Given the description of an element on the screen output the (x, y) to click on. 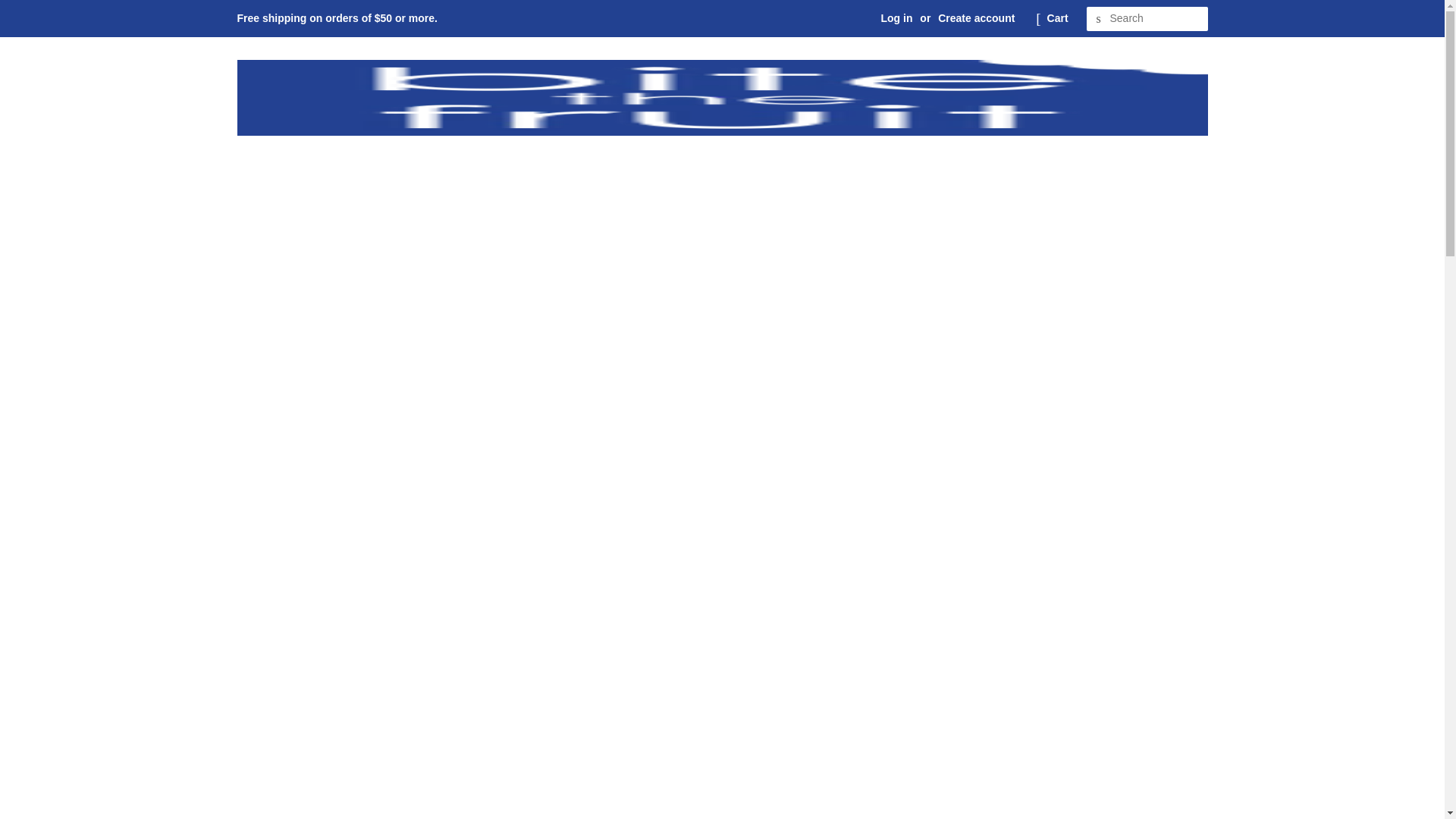
Create account (975, 18)
Log in (896, 18)
Search (1097, 18)
Cart (1057, 18)
